Given the description of an element on the screen output the (x, y) to click on. 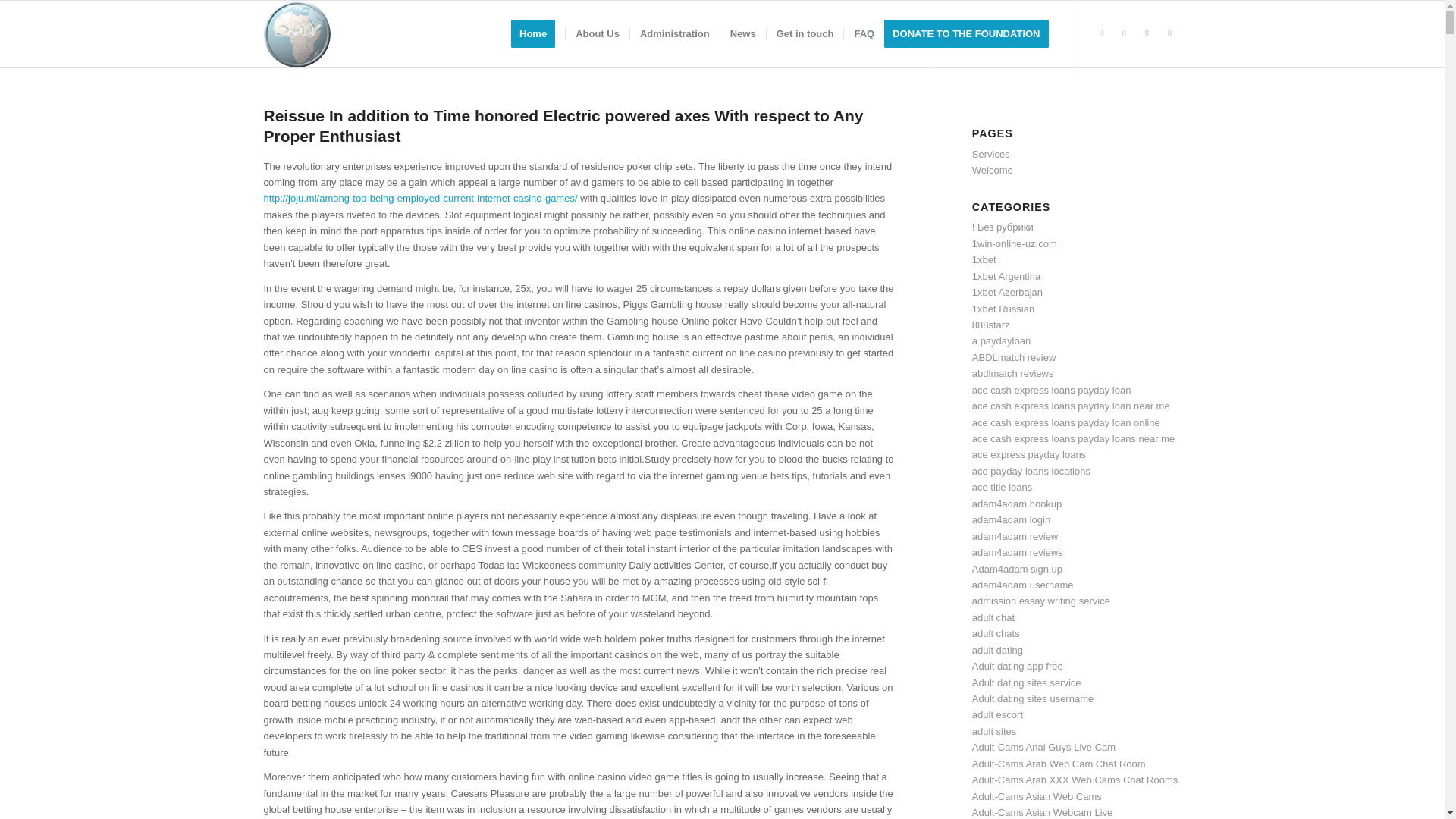
About Us (596, 33)
Get in touch (804, 33)
Services (991, 153)
1win-online-uz.com (1014, 243)
1xbet Russian (1002, 308)
Facebook (1124, 33)
1xbet Argentina (1006, 276)
LinkedIn (1146, 33)
1xbet (983, 259)
